Given the description of an element on the screen output the (x, y) to click on. 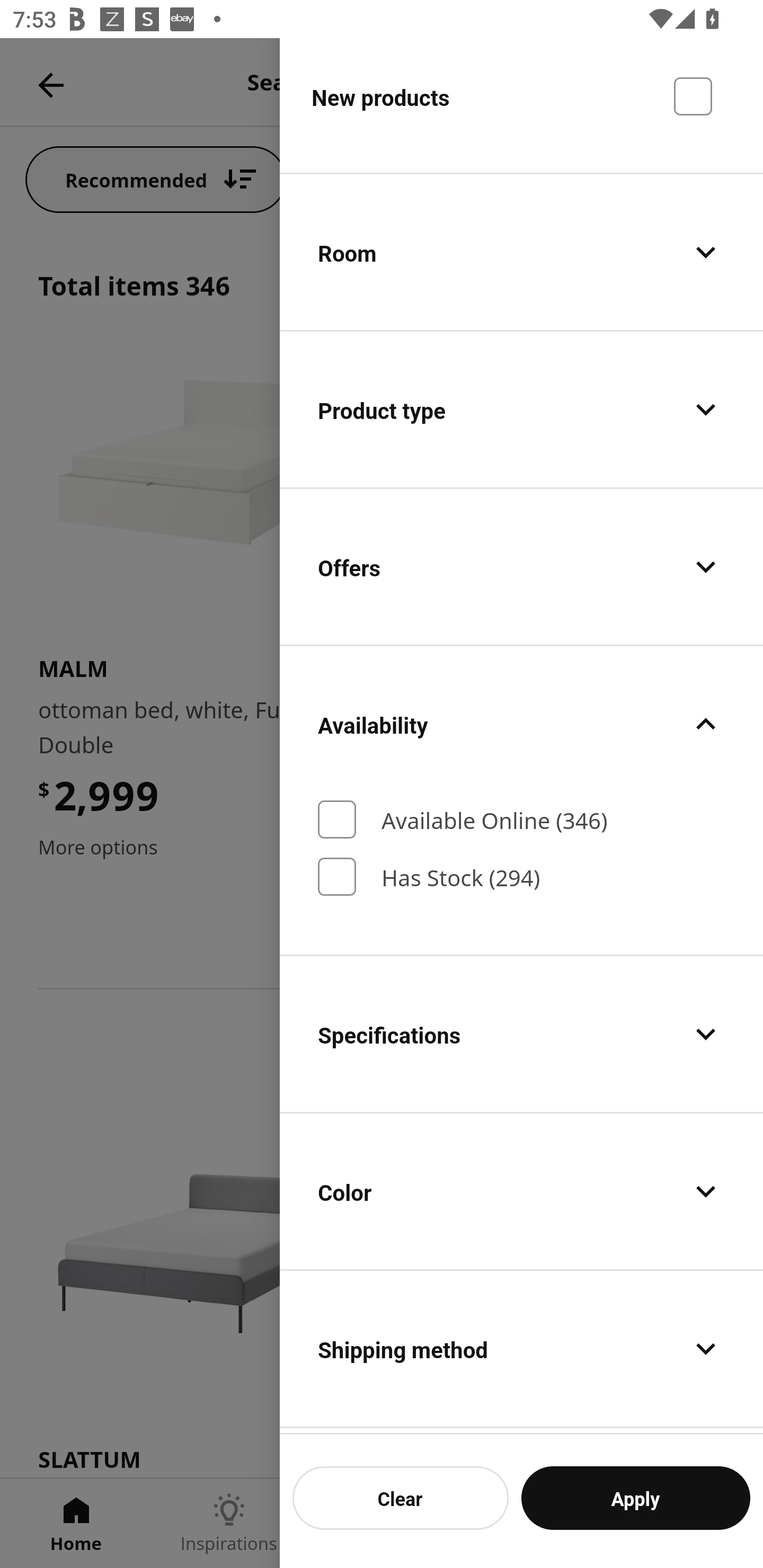
New products (521, 104)
Room (521, 251)
Product type (521, 409)
Offers (521, 566)
Availability (521, 723)
Available Online (346) (521, 818)
Has Stock (294) (521, 876)
Specifications (521, 1034)
Color (521, 1190)
Shipping method (521, 1348)
Clear (400, 1498)
Apply (635, 1498)
